Given the description of an element on the screen output the (x, y) to click on. 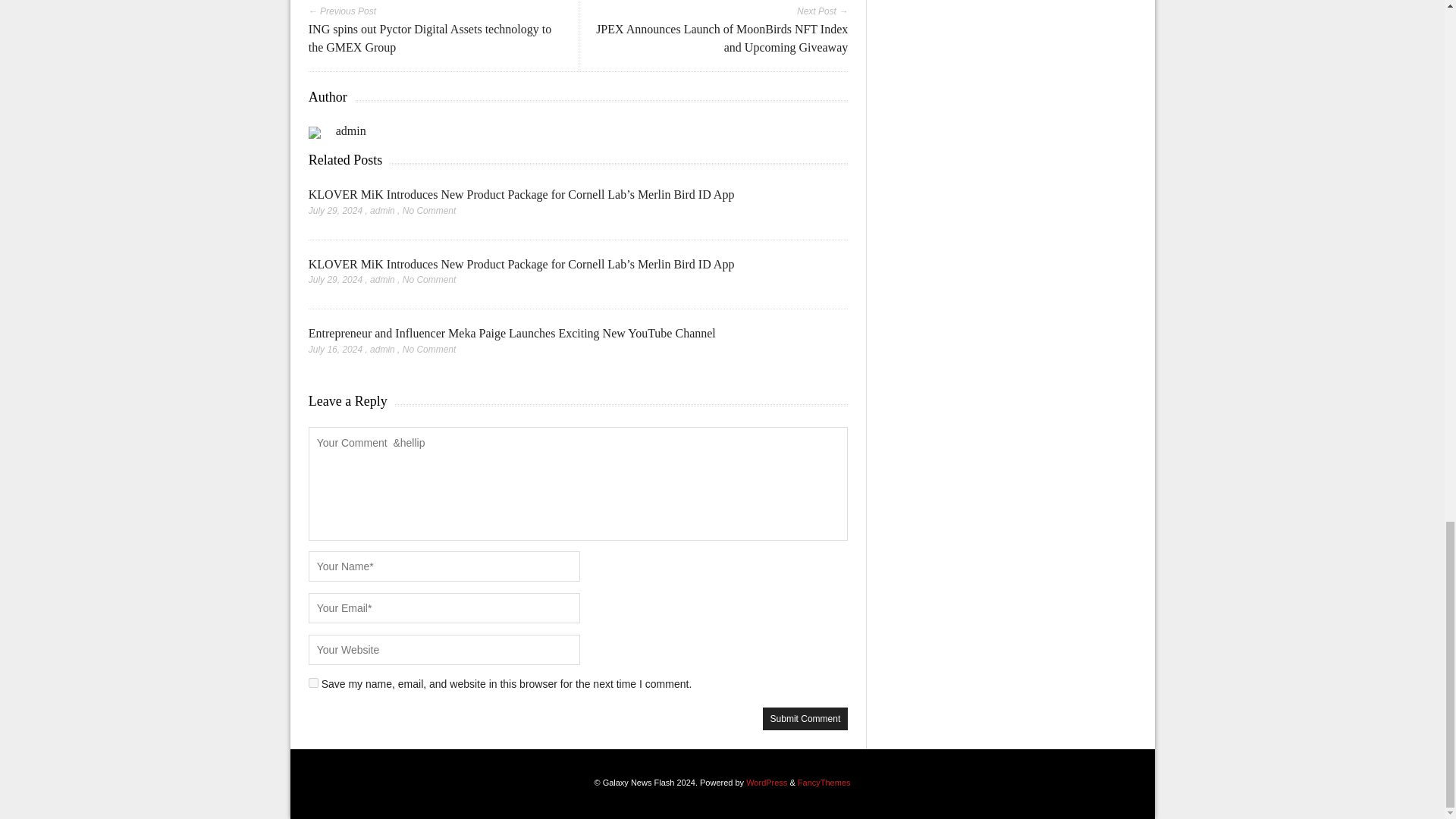
WordPress (766, 782)
admin (381, 279)
Submit Comment (805, 718)
Posts by admin (381, 348)
admin (351, 130)
FancyThemes (823, 782)
Posts by admin (381, 279)
Posts by admin (381, 210)
admin (381, 348)
Posts by admin (351, 130)
Submit Comment (805, 718)
admin (381, 210)
No Comment (430, 210)
